Given the description of an element on the screen output the (x, y) to click on. 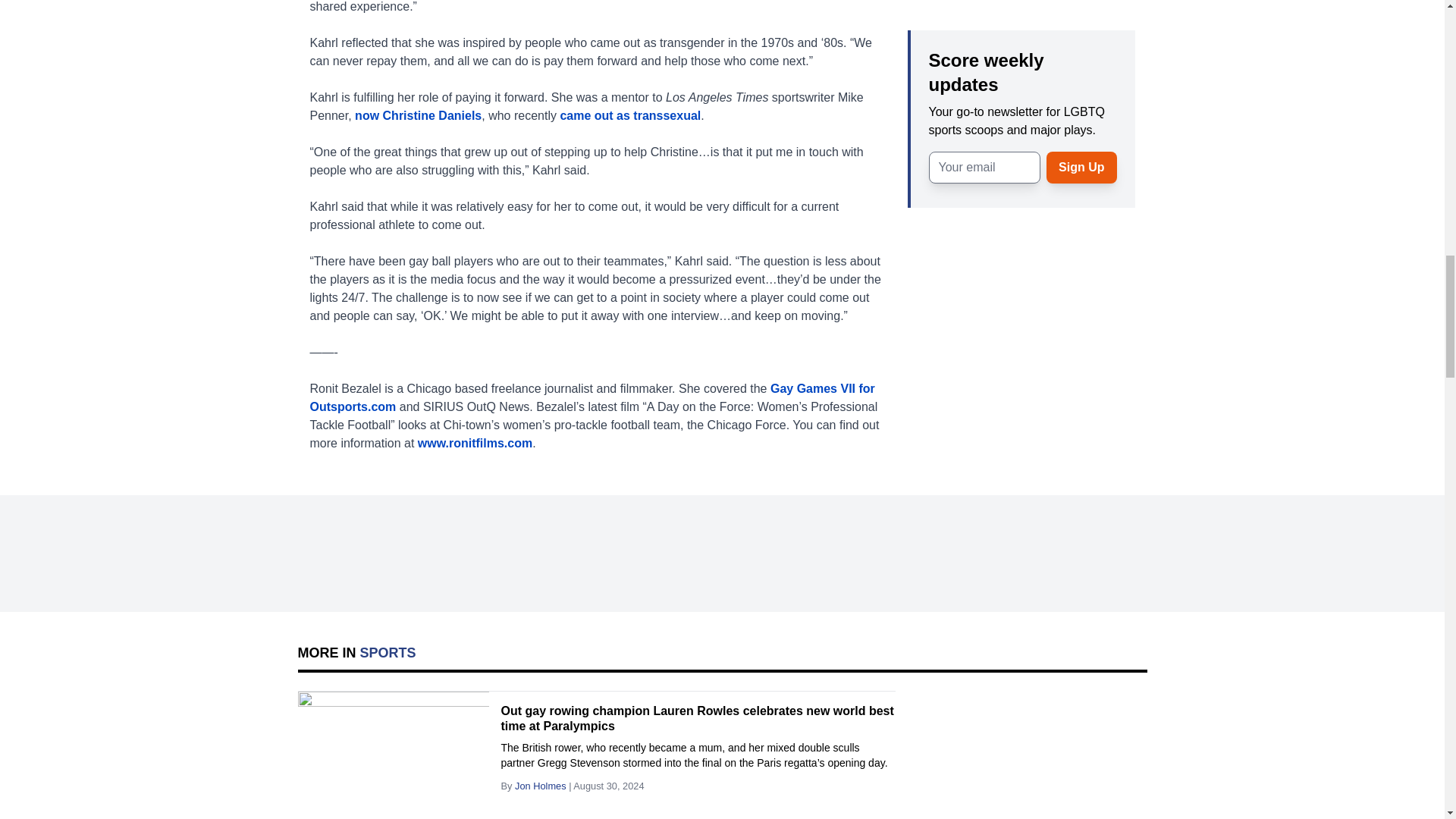
now Christine Daniels (418, 115)
Jon Holmes (540, 785)
www.ronitfilms.com (474, 442)
Gay Games VII for Outsports.com (591, 397)
came out as transsexual (629, 115)
